Given the description of an element on the screen output the (x, y) to click on. 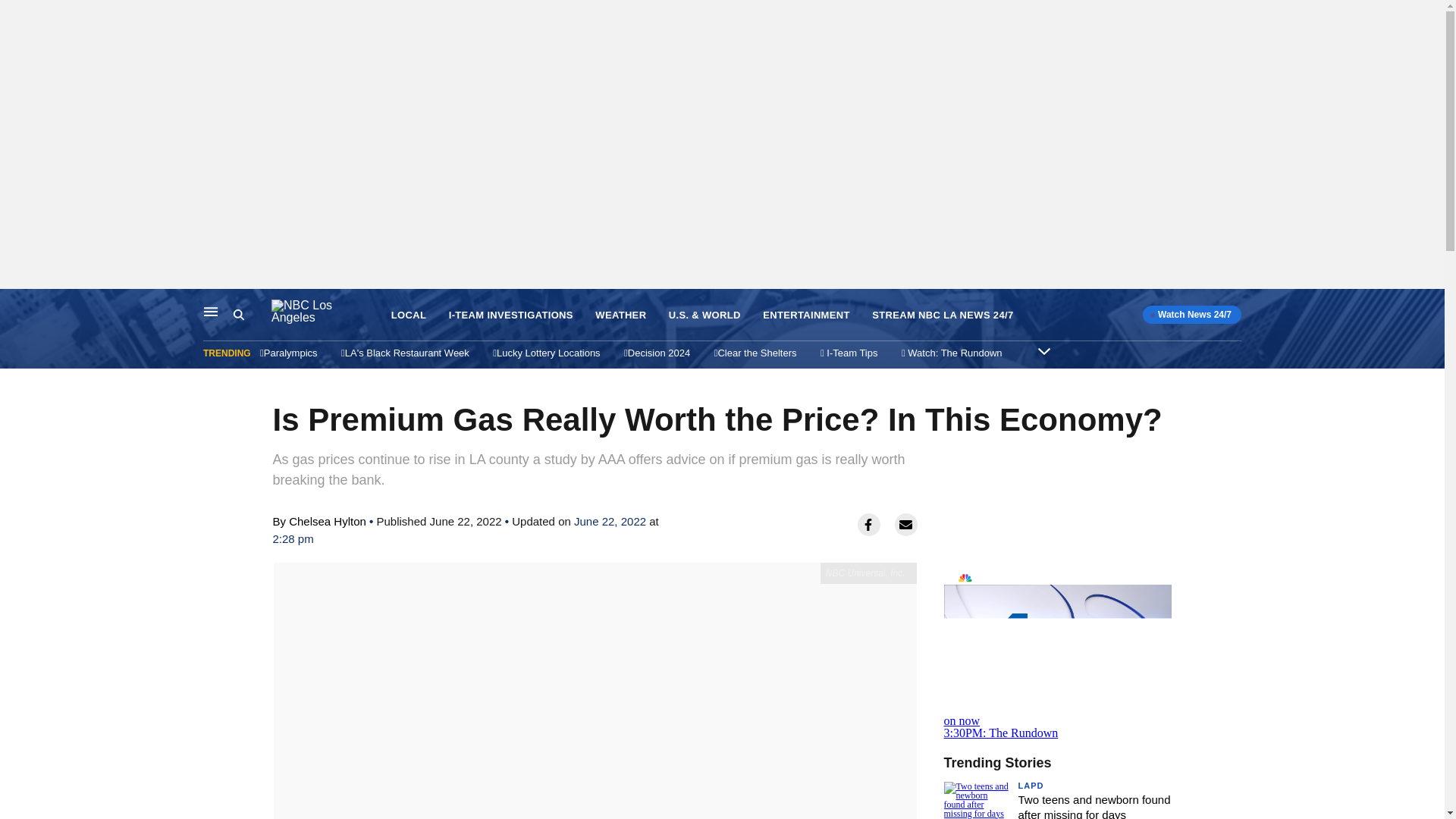
Expand (1043, 350)
LOCAL (408, 315)
I-TEAM INVESTIGATIONS (510, 315)
Search (238, 314)
ENTERTAINMENT (806, 315)
WEATHER (620, 315)
Skip to content (16, 304)
Main Navigation (1056, 650)
Search (210, 311)
